Given the description of an element on the screen output the (x, y) to click on. 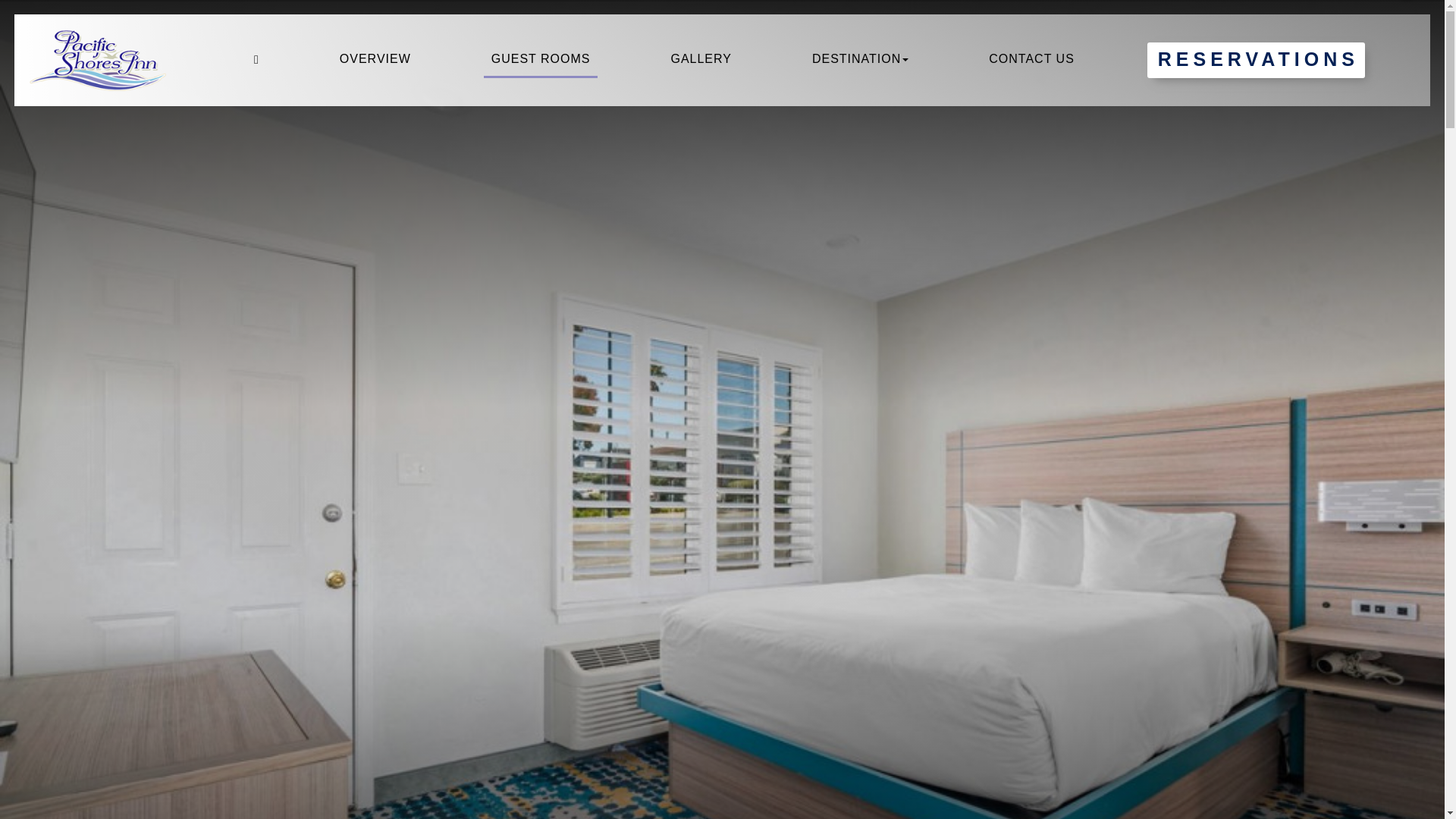
CONTACT US (1031, 59)
RESERVATIONS (1256, 59)
GALLERY (700, 59)
GUEST ROOMS (540, 59)
OVERVIEW (375, 59)
DESTINATION (860, 59)
